Given the description of an element on the screen output the (x, y) to click on. 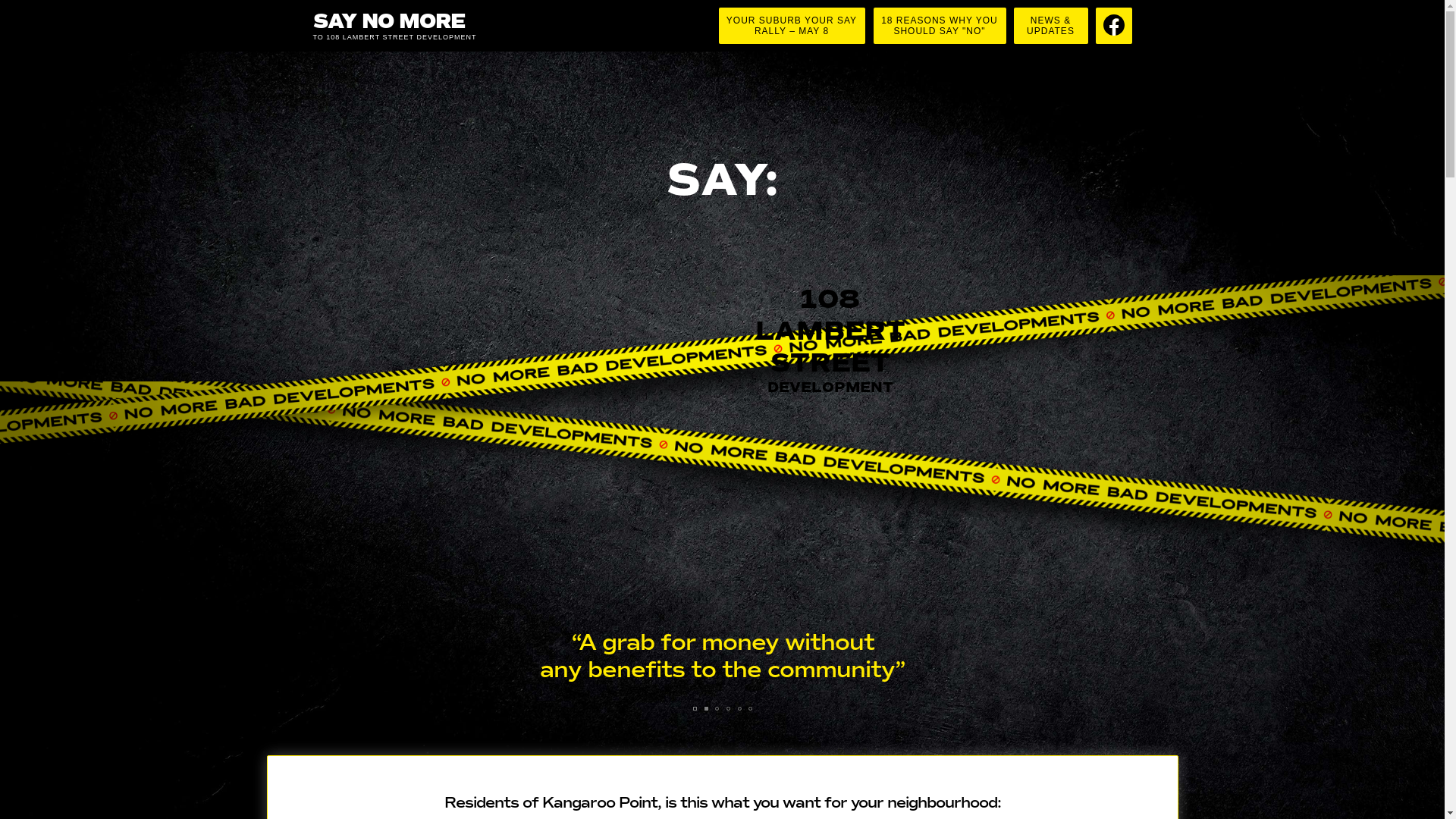
NEWS &
UPDATES Element type: text (1050, 25)
18 REASONS WHY YOU SHOULD SAY "NO" Element type: text (939, 25)
SAY NO MORE
TO 108 LAMBERT STREET DEVELOPMENT Element type: text (418, 26)
